Given the description of an element on the screen output the (x, y) to click on. 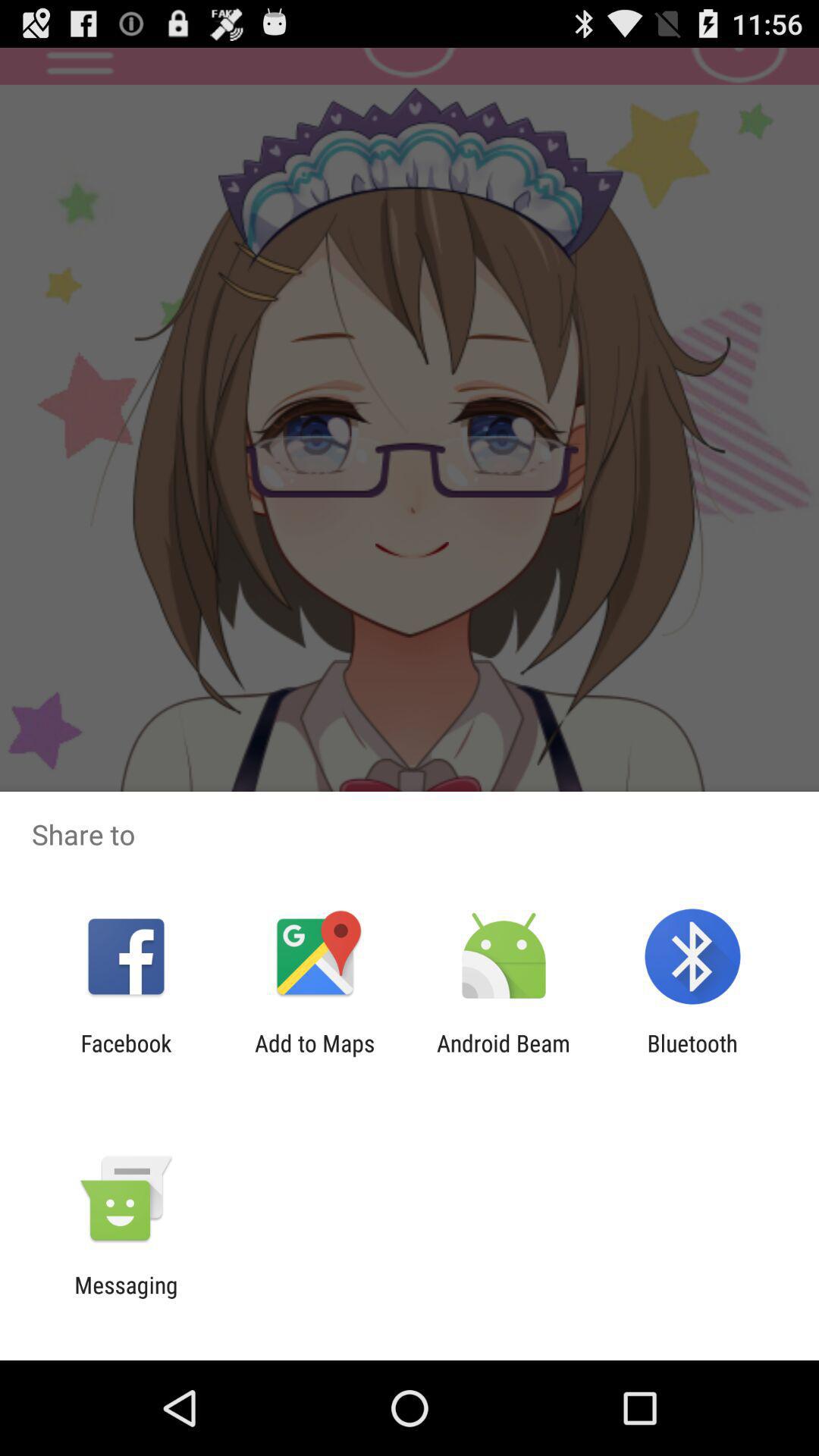
turn on icon to the right of the android beam app (692, 1056)
